Given the description of an element on the screen output the (x, y) to click on. 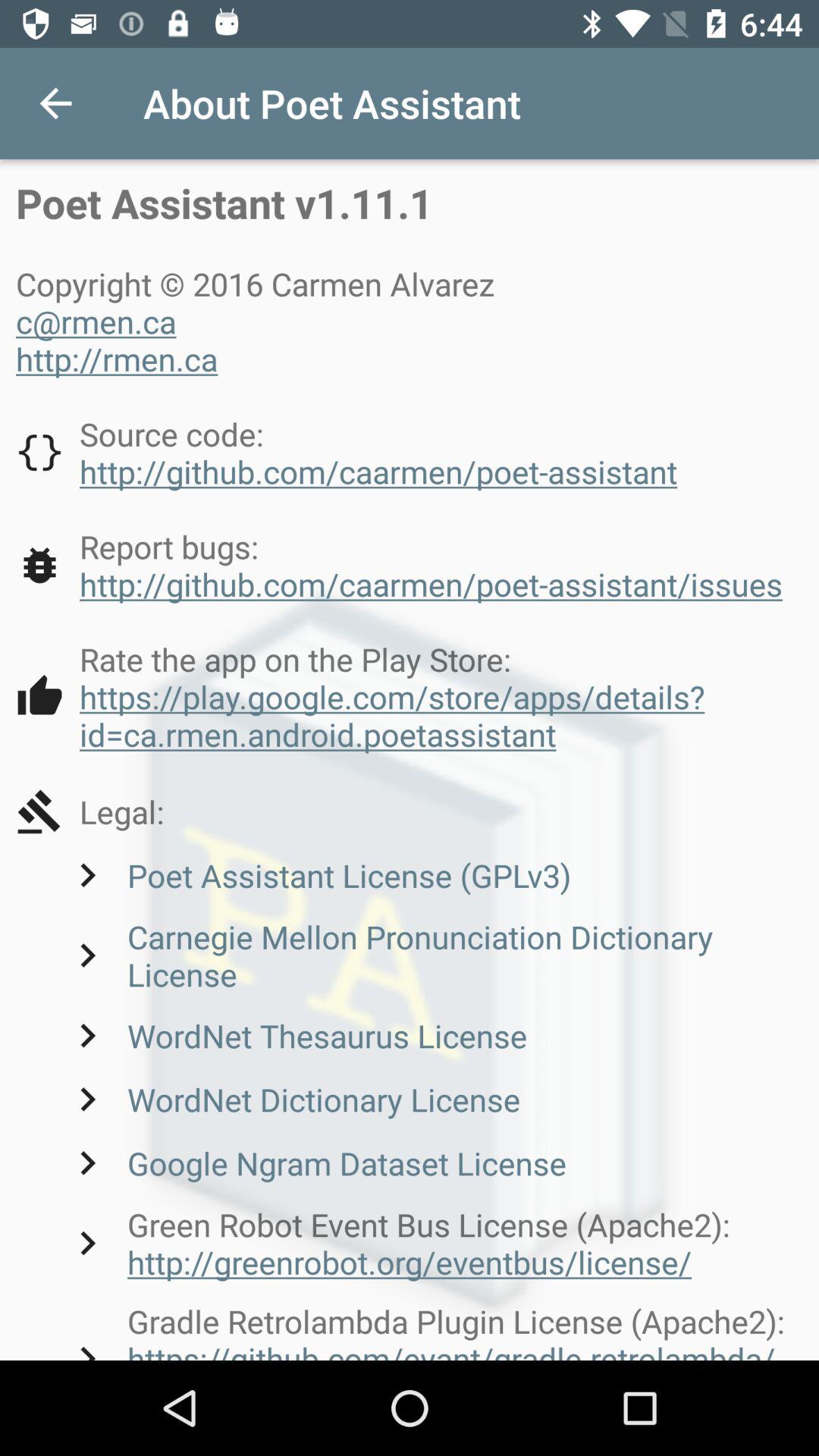
select the item below poet assistant license icon (433, 955)
